Given the description of an element on the screen output the (x, y) to click on. 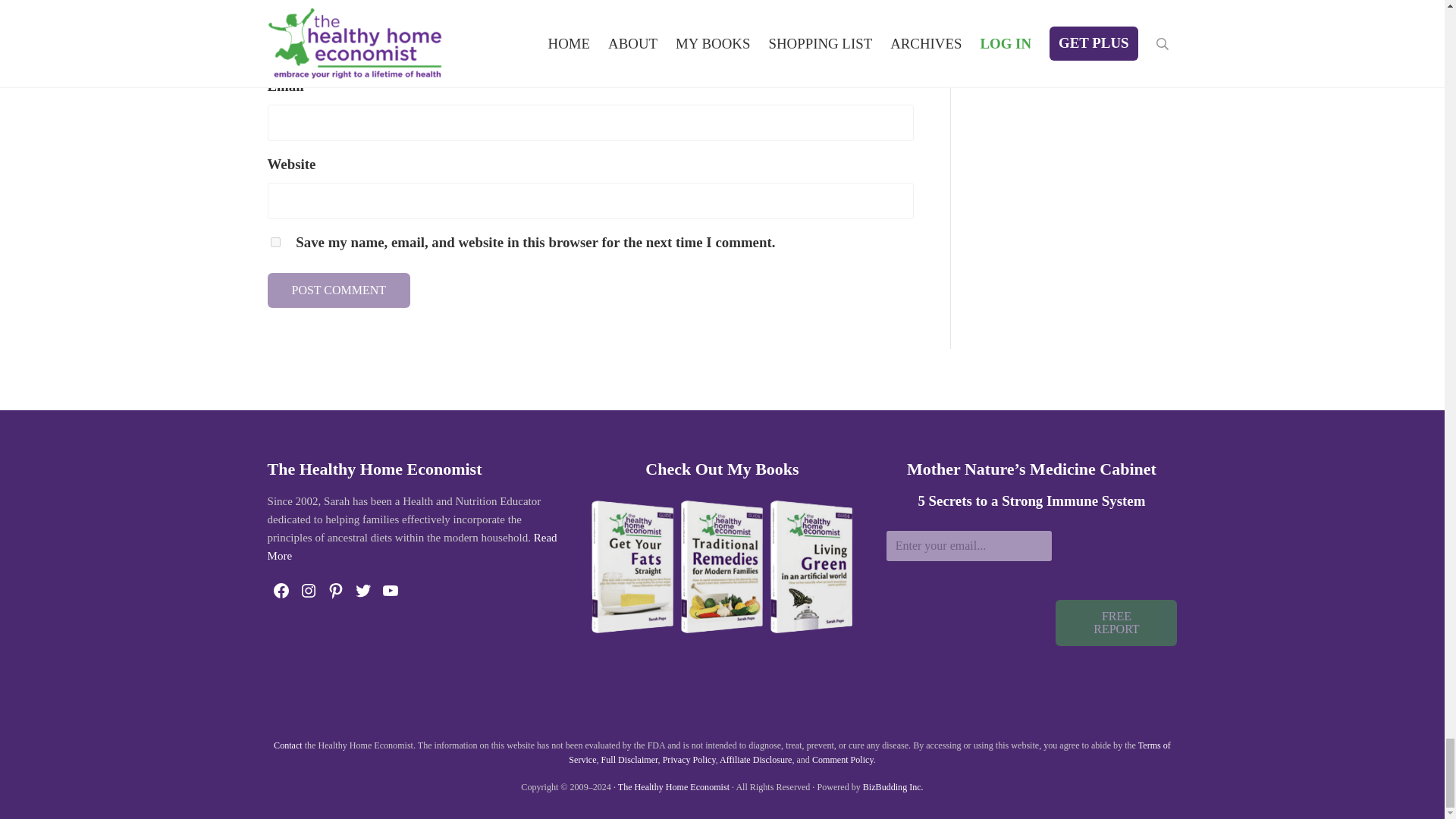
Post Comment (338, 289)
yes (274, 242)
